Given the description of an element on the screen output the (x, y) to click on. 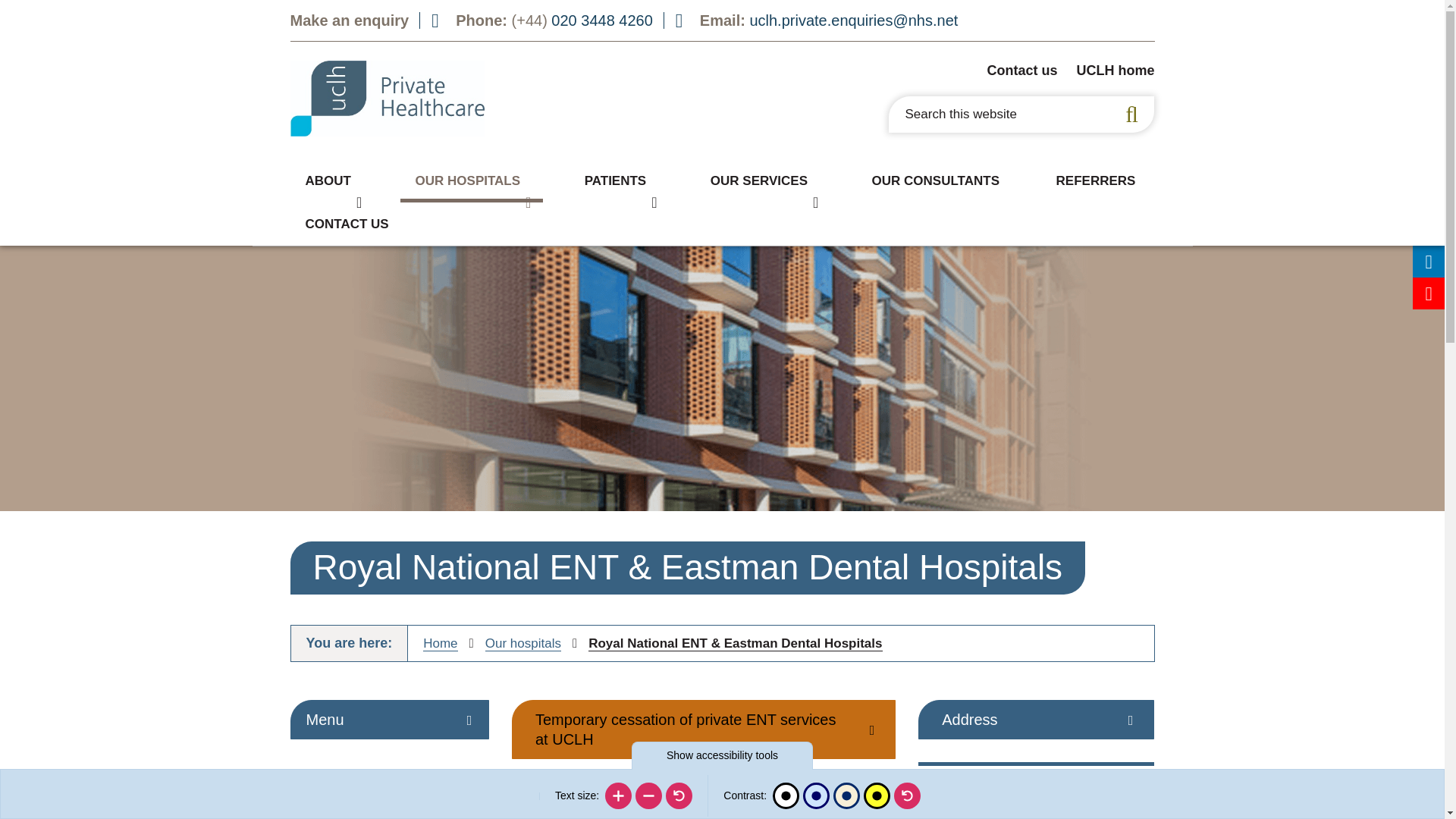
Contact us (1022, 70)
Blogs (975, 206)
UCLH home (1114, 70)
Work with us (779, 206)
Meet the team (342, 206)
Homepage (386, 98)
ABOUT (330, 180)
020 3448 4260 (601, 20)
Show accessibility tools (721, 755)
Make an enquiry (349, 20)
